Given the description of an element on the screen output the (x, y) to click on. 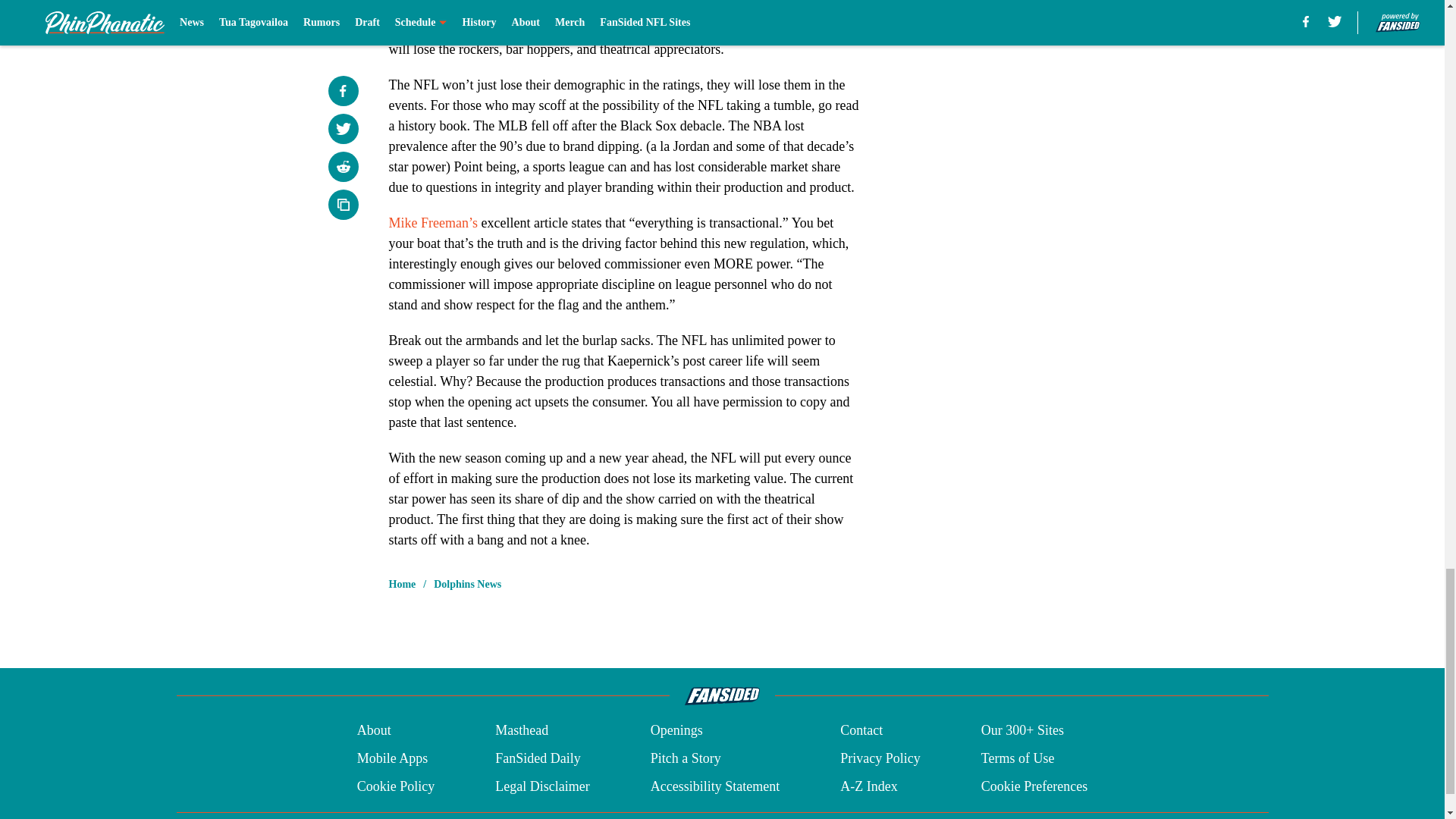
Dolphins News (466, 584)
About (373, 730)
Privacy Policy (880, 758)
FanSided Daily (537, 758)
Contact (861, 730)
Openings (676, 730)
Mobile Apps (392, 758)
Legal Disclaimer (542, 786)
Pitch a Story (685, 758)
Cookie Policy (395, 786)
Home (401, 584)
Terms of Use (1017, 758)
Masthead (521, 730)
